Given the description of an element on the screen output the (x, y) to click on. 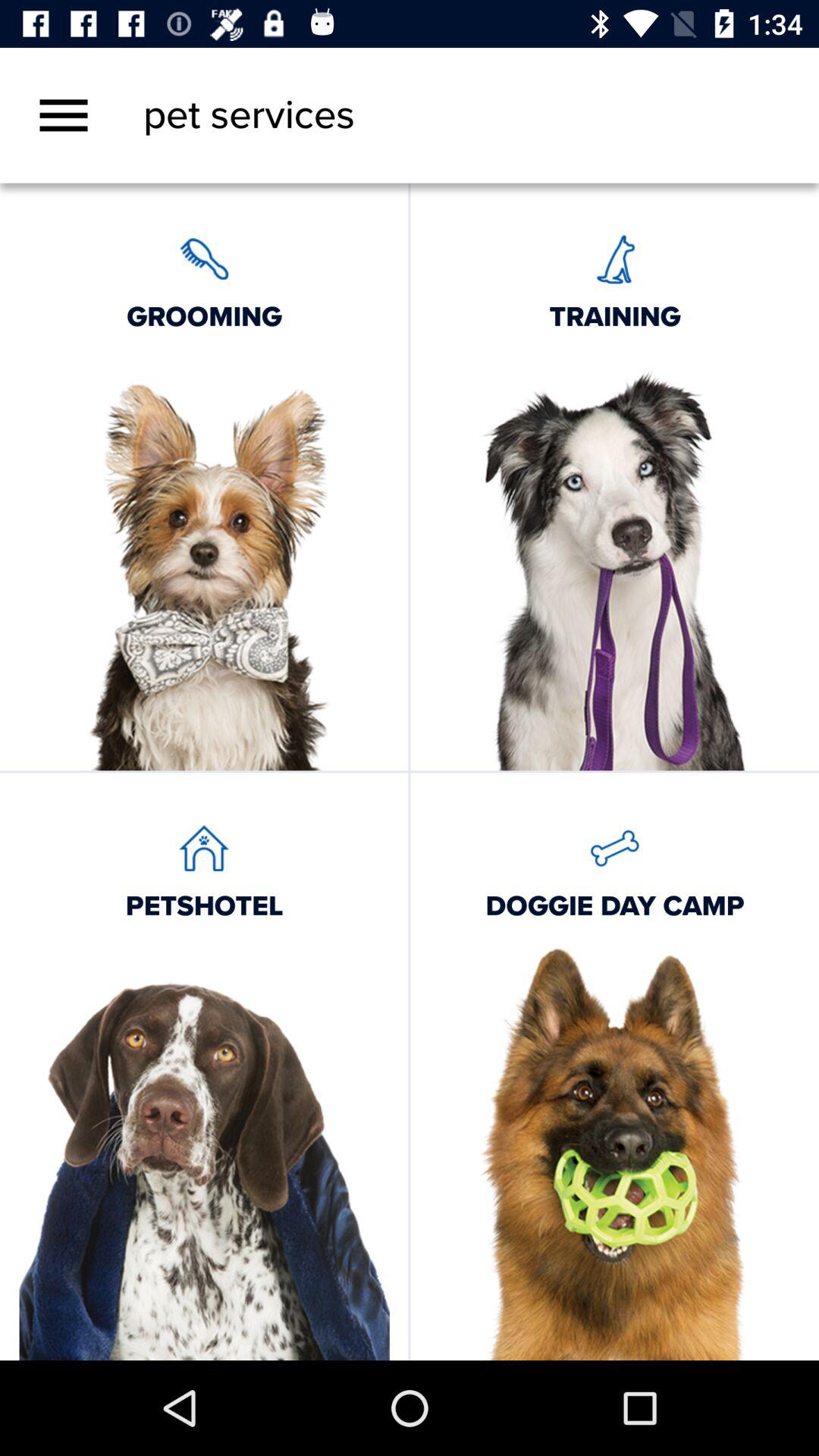
turn off item next to the pet services item (63, 115)
